Given the description of an element on the screen output the (x, y) to click on. 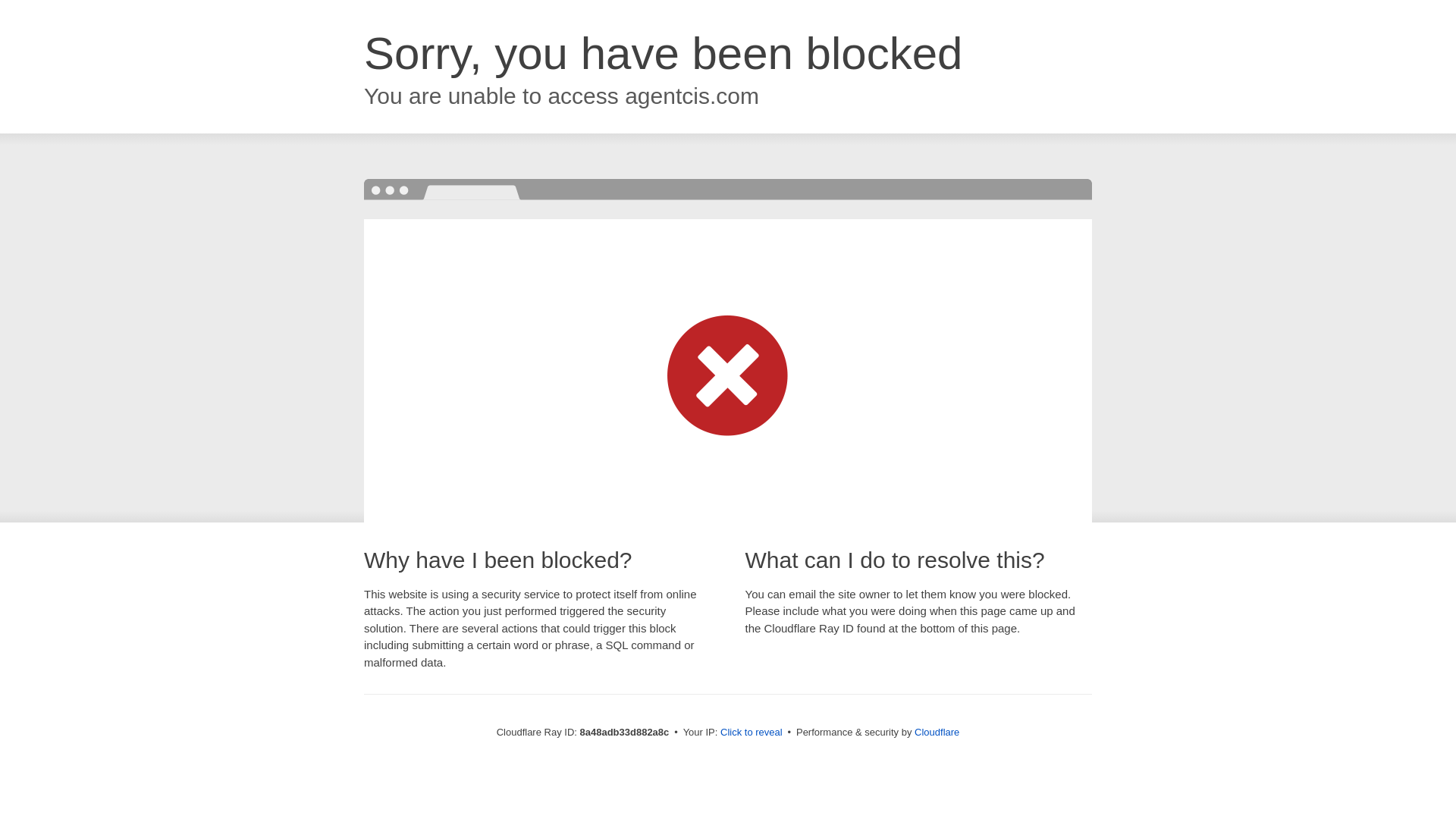
Cloudflare (936, 731)
Click to reveal (751, 732)
